Given the description of an element on the screen output the (x, y) to click on. 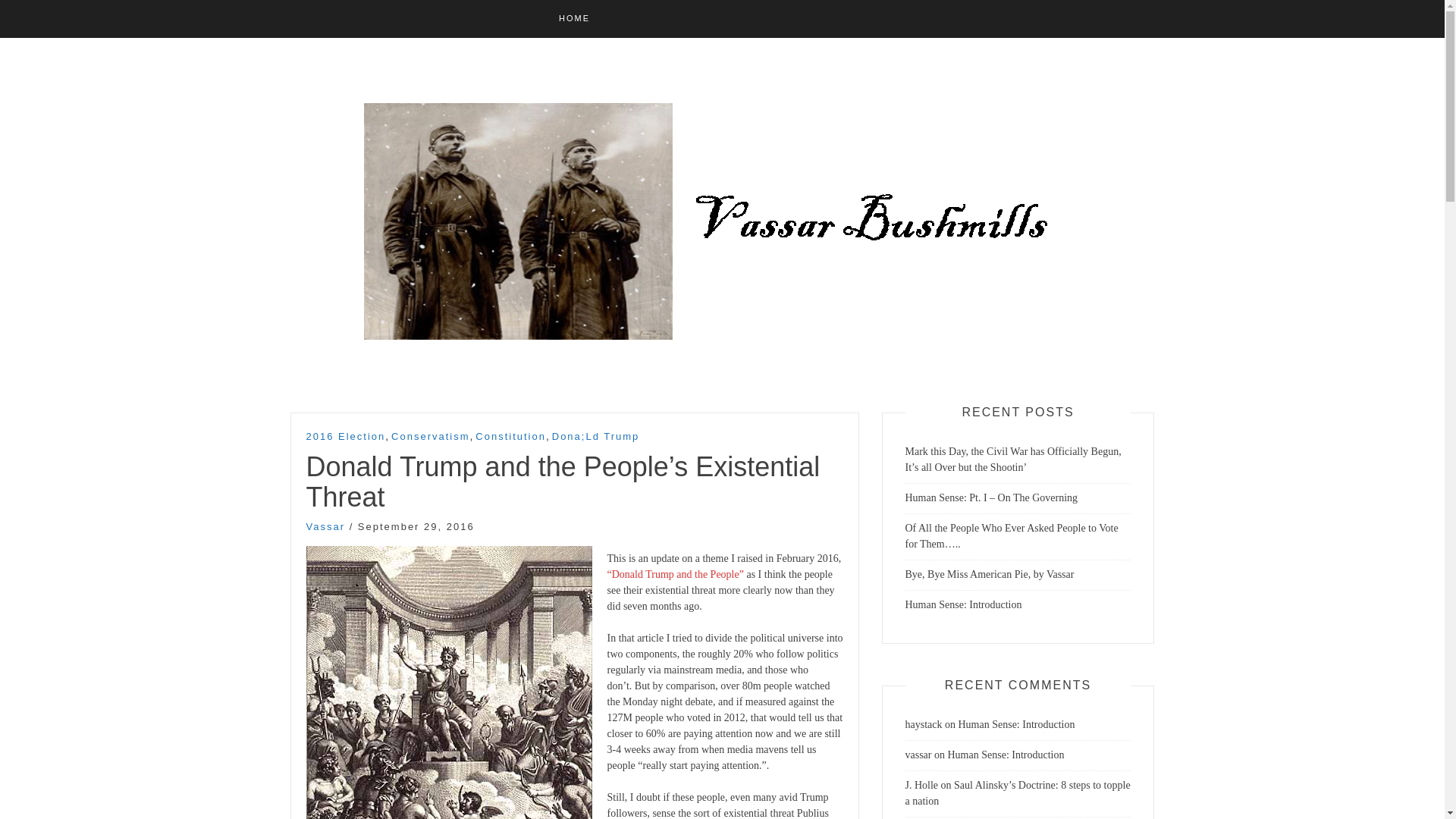
2016 Election (345, 436)
Conservatism (429, 436)
Dona;Ld Trump (595, 436)
Human Sense: Introduction (963, 604)
Constitution (511, 436)
Human Sense: Introduction (1005, 754)
Human Sense: Introduction (1016, 724)
Vassar (325, 526)
Bye, Bye Miss American Pie, by Vassar (989, 573)
